Given the description of an element on the screen output the (x, y) to click on. 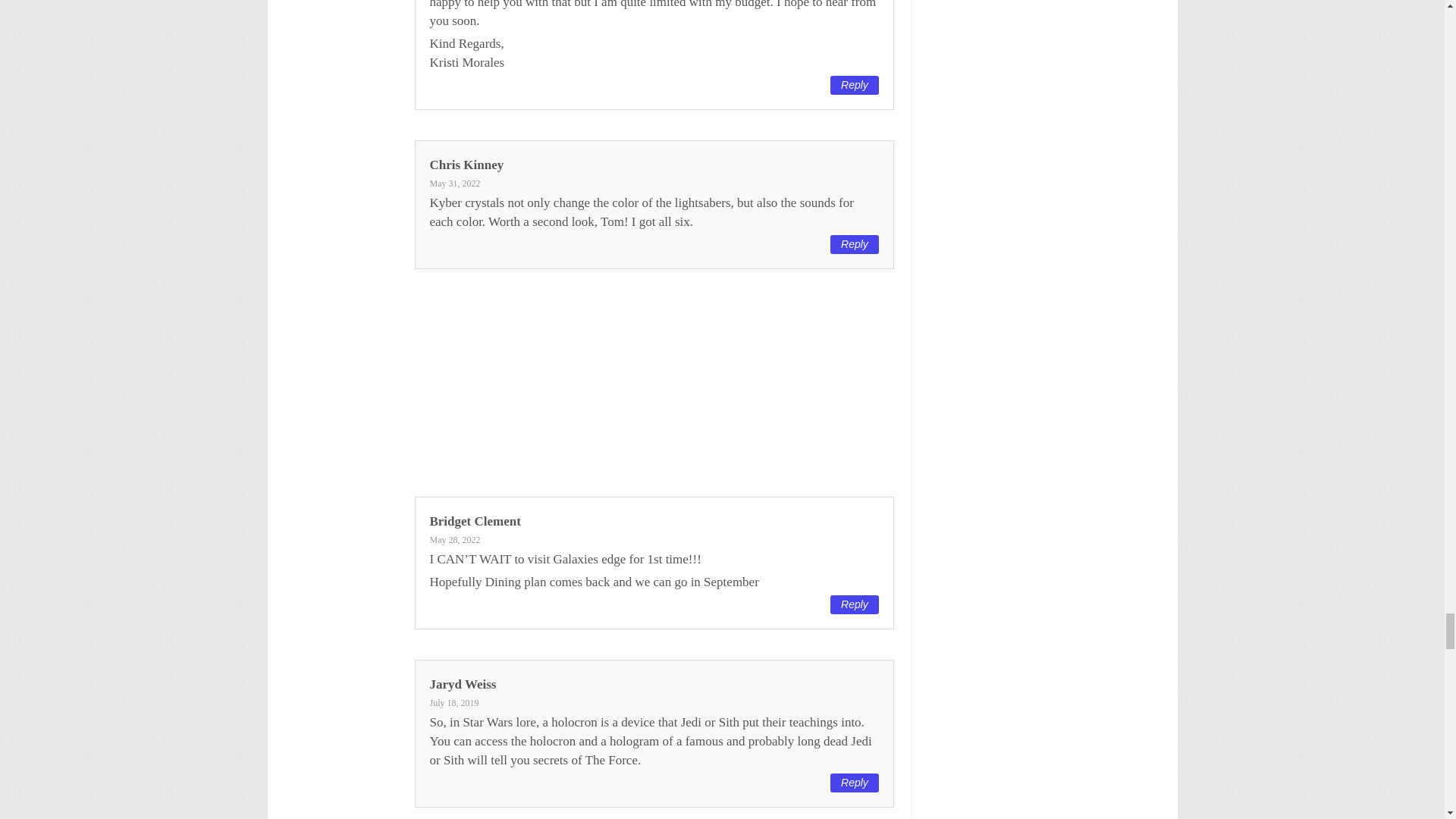
Reply (854, 85)
